Given the description of an element on the screen output the (x, y) to click on. 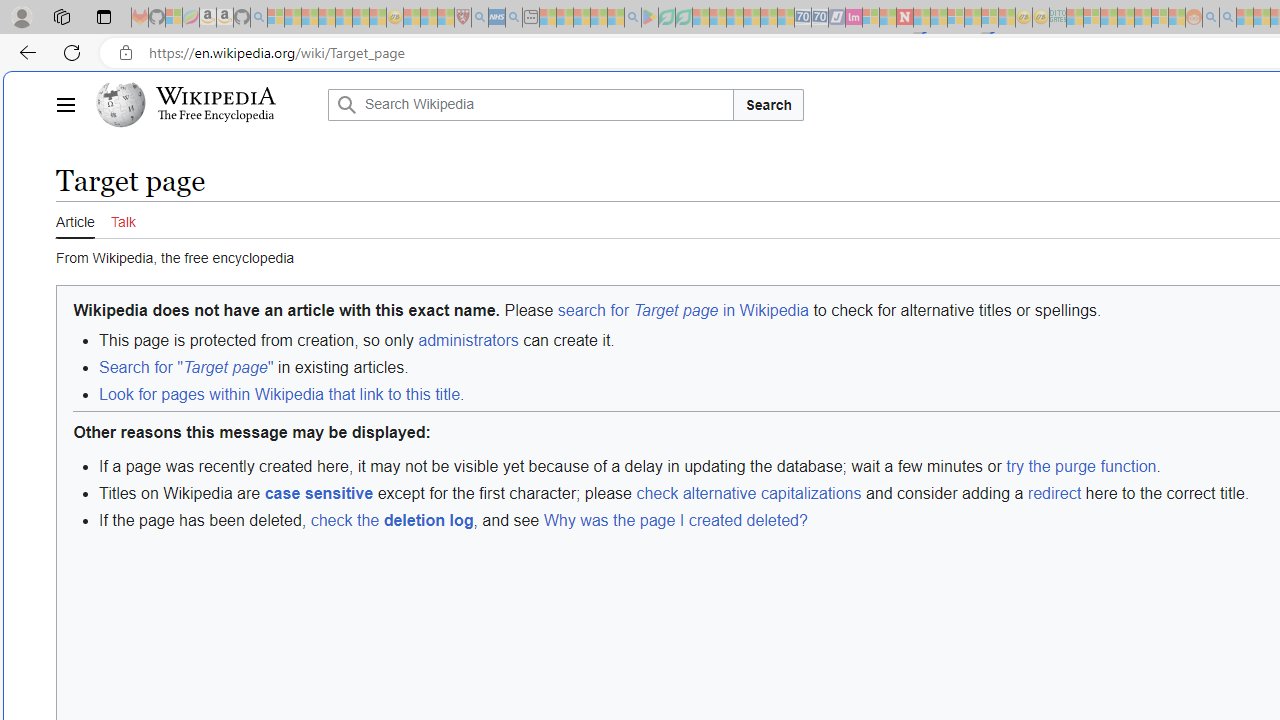
Why was the page I created deleted? (674, 520)
Microsoft account | Privacy - Sleeping (1091, 17)
Look for pages within Wikipedia that link to this title (279, 394)
The Weather Channel - MSN - Sleeping (309, 17)
redirect (1053, 492)
Utah sues federal government - Search - Sleeping (1227, 17)
Microsoft Start - Sleeping (1244, 17)
The Free Encyclopedia (216, 116)
